Given the description of an element on the screen output the (x, y) to click on. 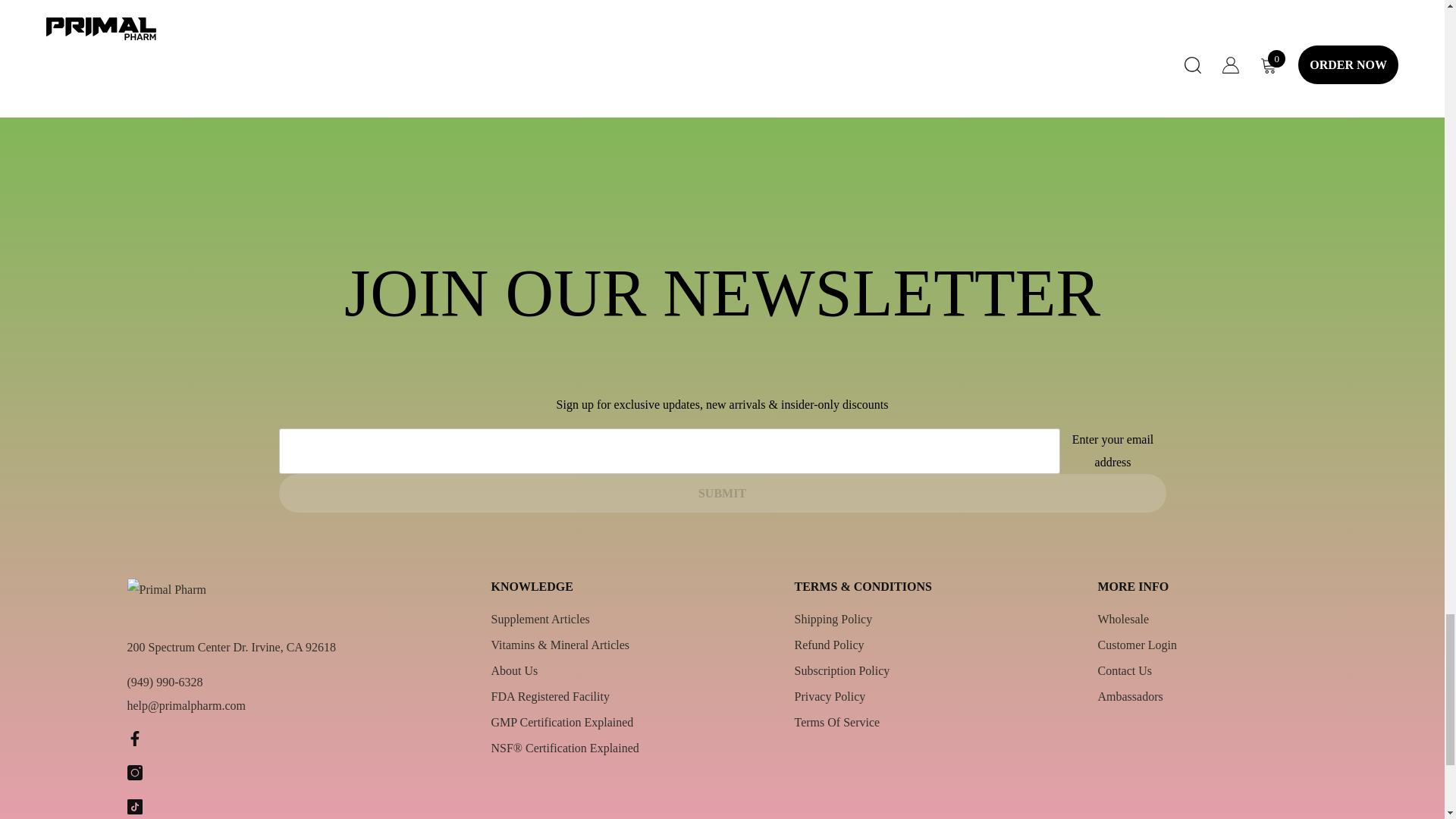
SUBMIT (722, 493)
